Given the description of an element on the screen output the (x, y) to click on. 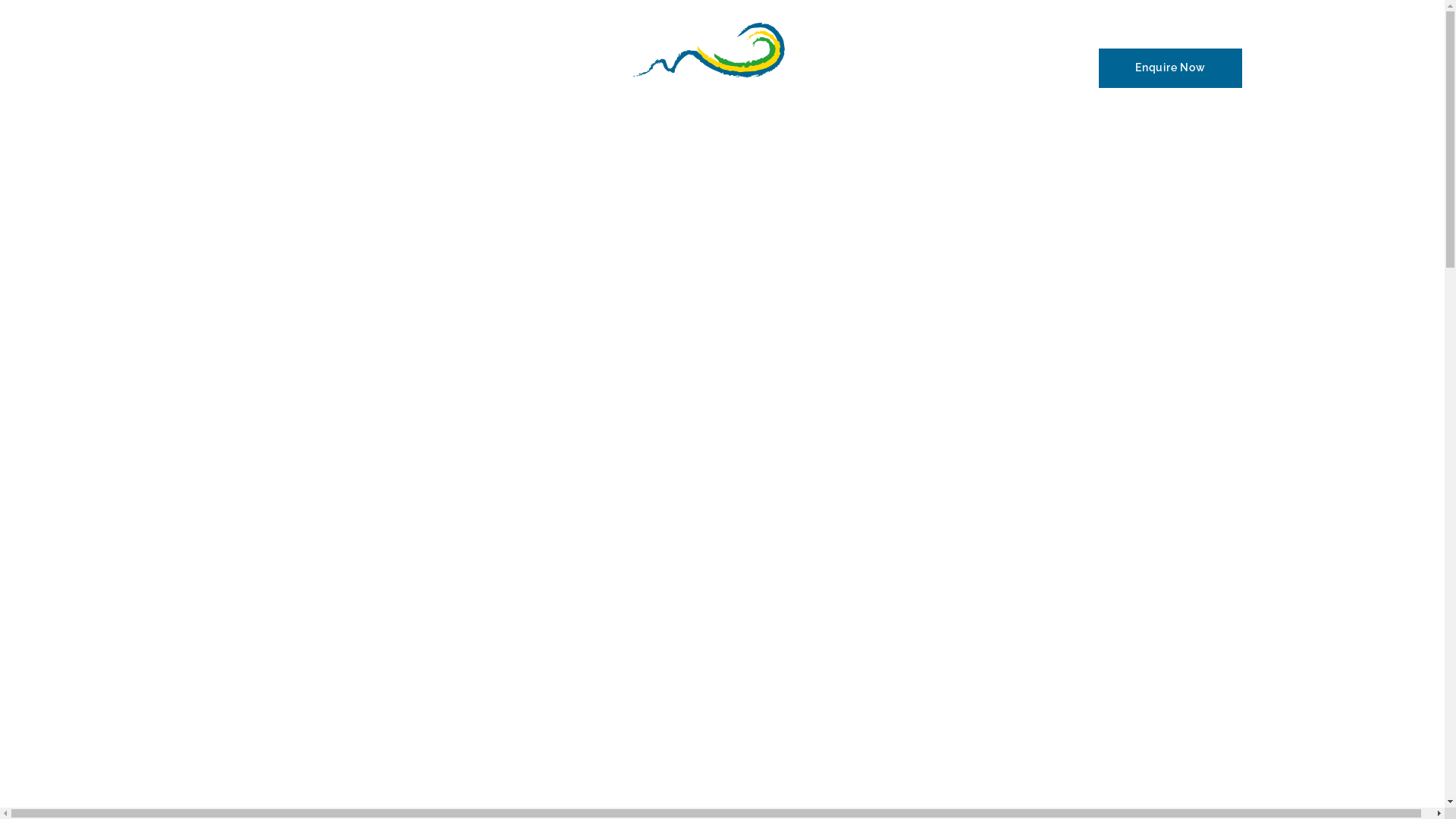
Ocean Release Element type: text (1009, 68)
Enquire Now Element type: text (1170, 67)
Discover Warrnambool Element type: text (345, 68)
Home Element type: text (218, 68)
Design Element type: text (900, 68)
